Given the description of an element on the screen output the (x, y) to click on. 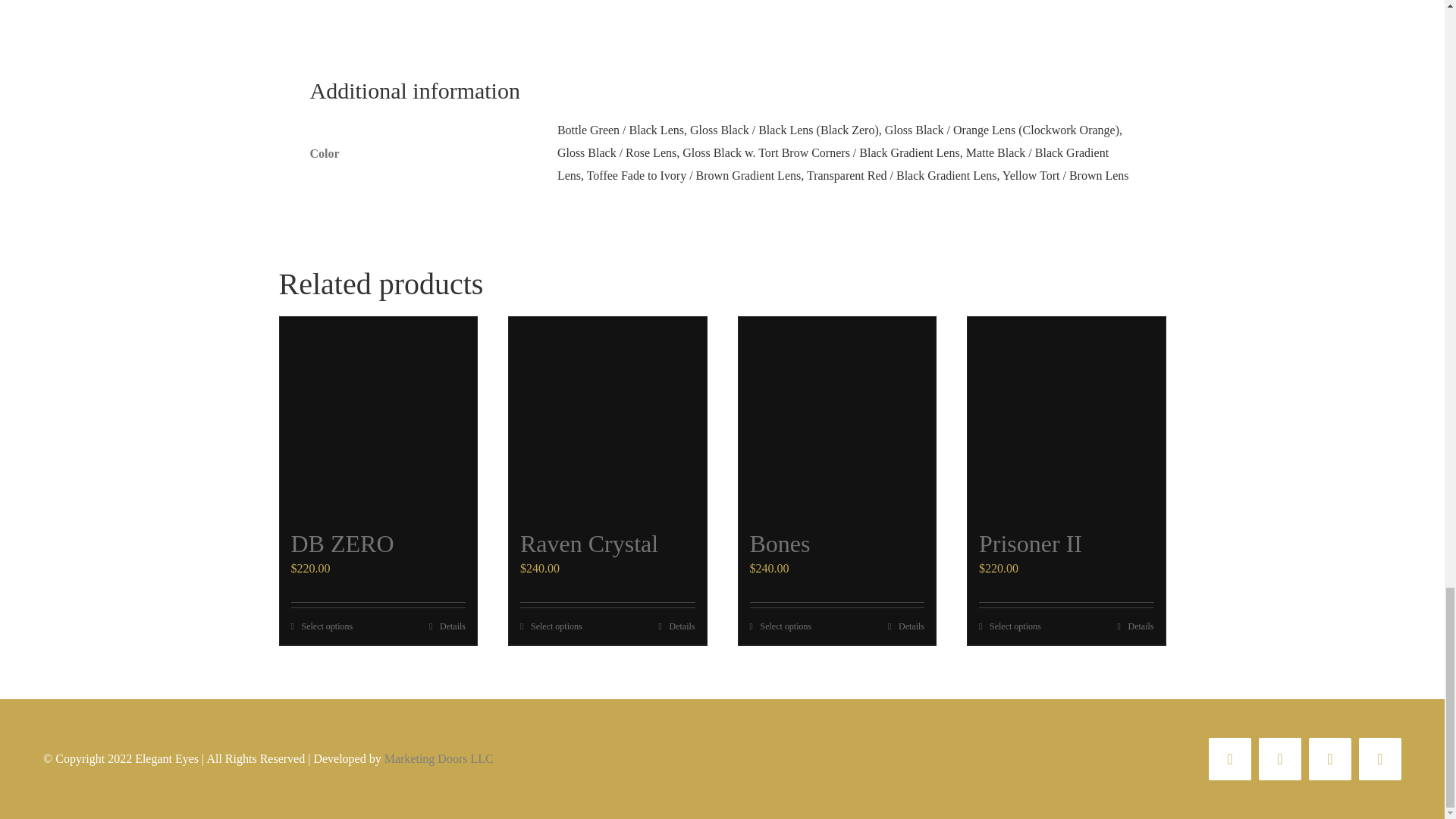
Raven Crystal (588, 543)
DB ZERO (342, 543)
Select options (1009, 626)
Details (676, 626)
Select options (779, 626)
Details (906, 626)
Marketing Doors LLC (438, 758)
Select options (322, 626)
Details (447, 626)
Prisoner II (1029, 543)
